Given the description of an element on the screen output the (x, y) to click on. 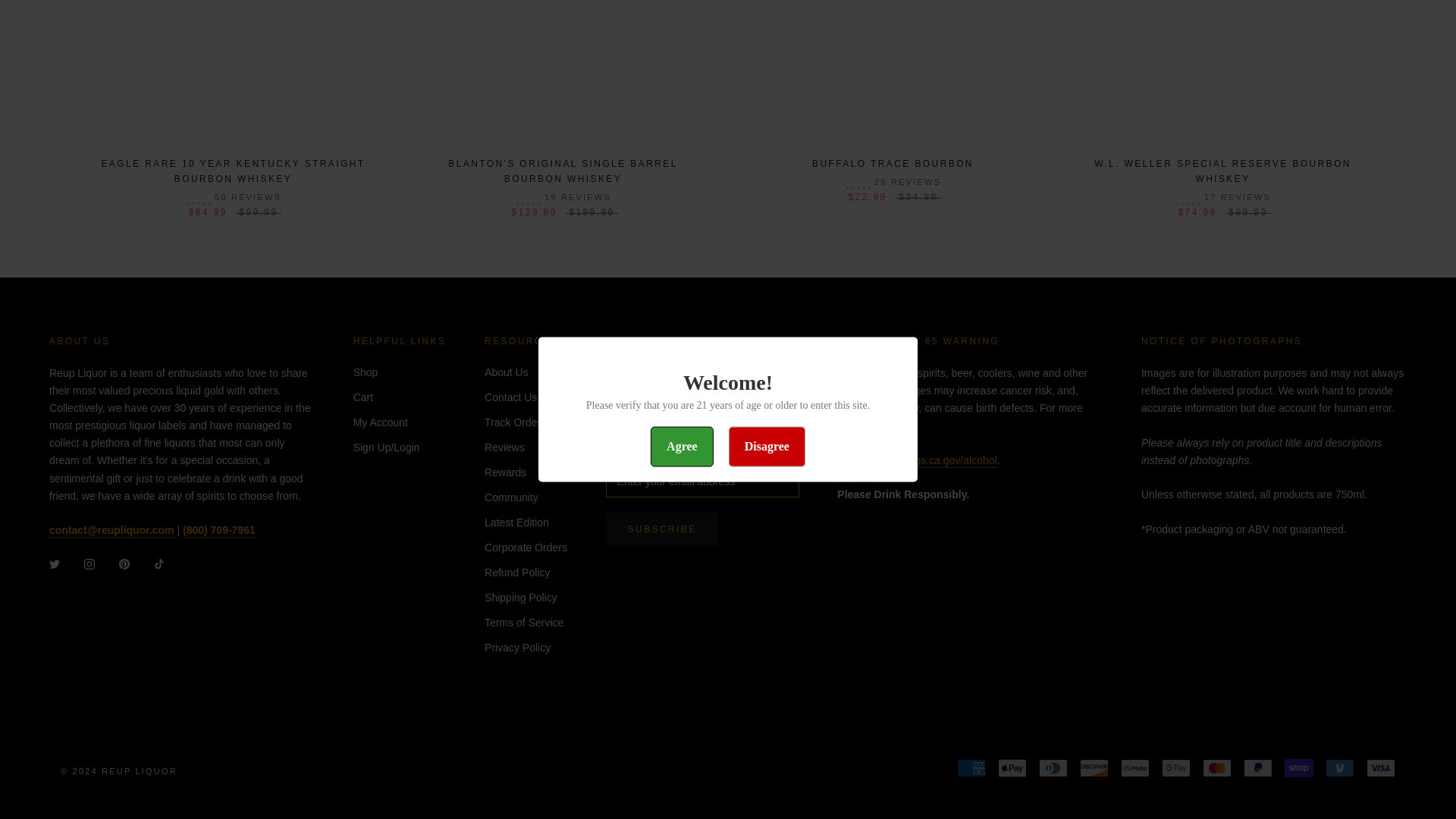
Discover (1094, 768)
Apple Pay (1011, 768)
American Express (970, 768)
Mastercard (1216, 768)
Diners Club (1053, 768)
PayPal (1257, 768)
Shop Pay (1298, 768)
Google Pay (1176, 768)
Venmo (1339, 768)
Visa (1380, 768)
Meta Pay (1135, 768)
